Given the description of an element on the screen output the (x, y) to click on. 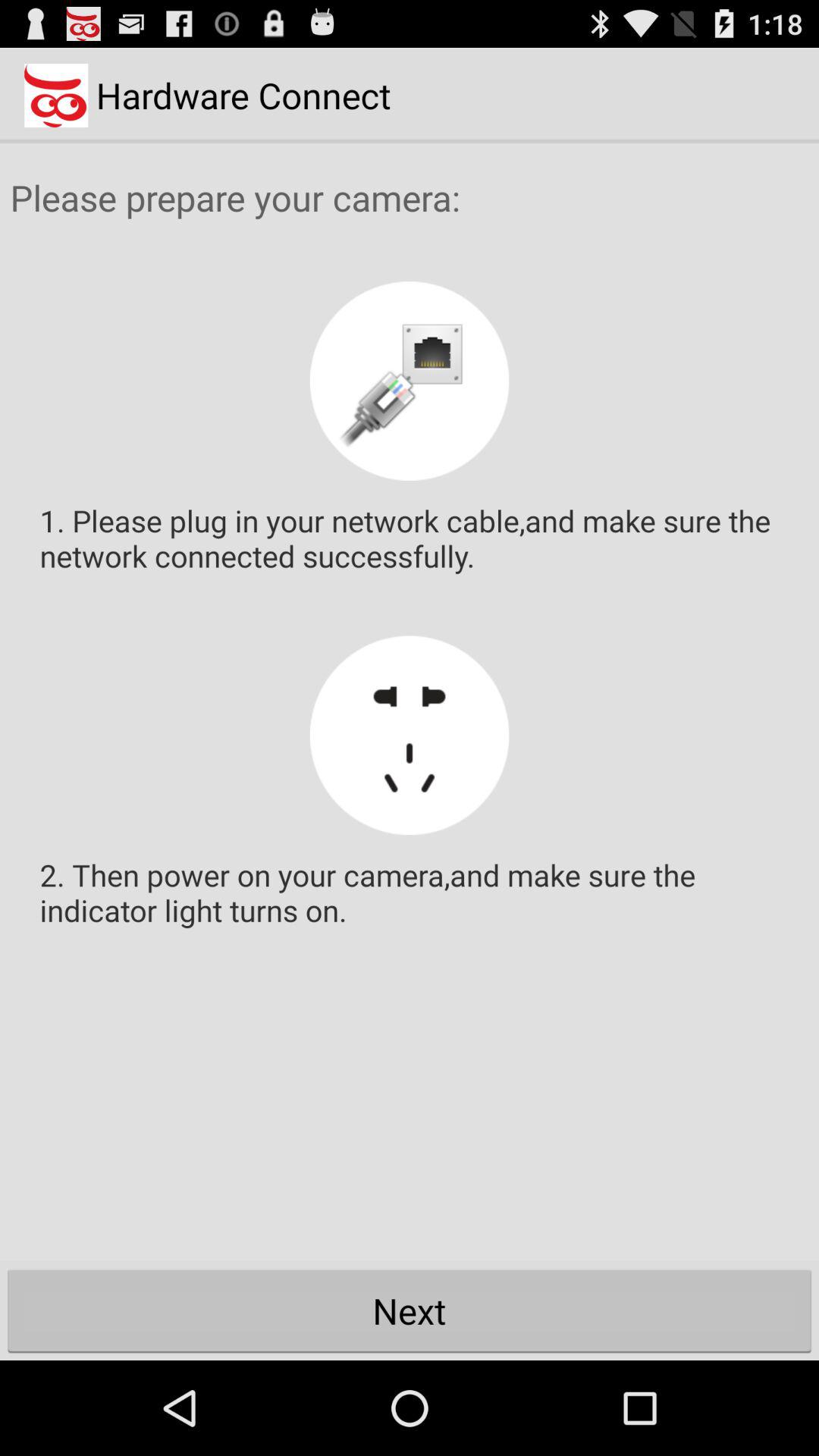
turn on the next button (409, 1310)
